Given the description of an element on the screen output the (x, y) to click on. 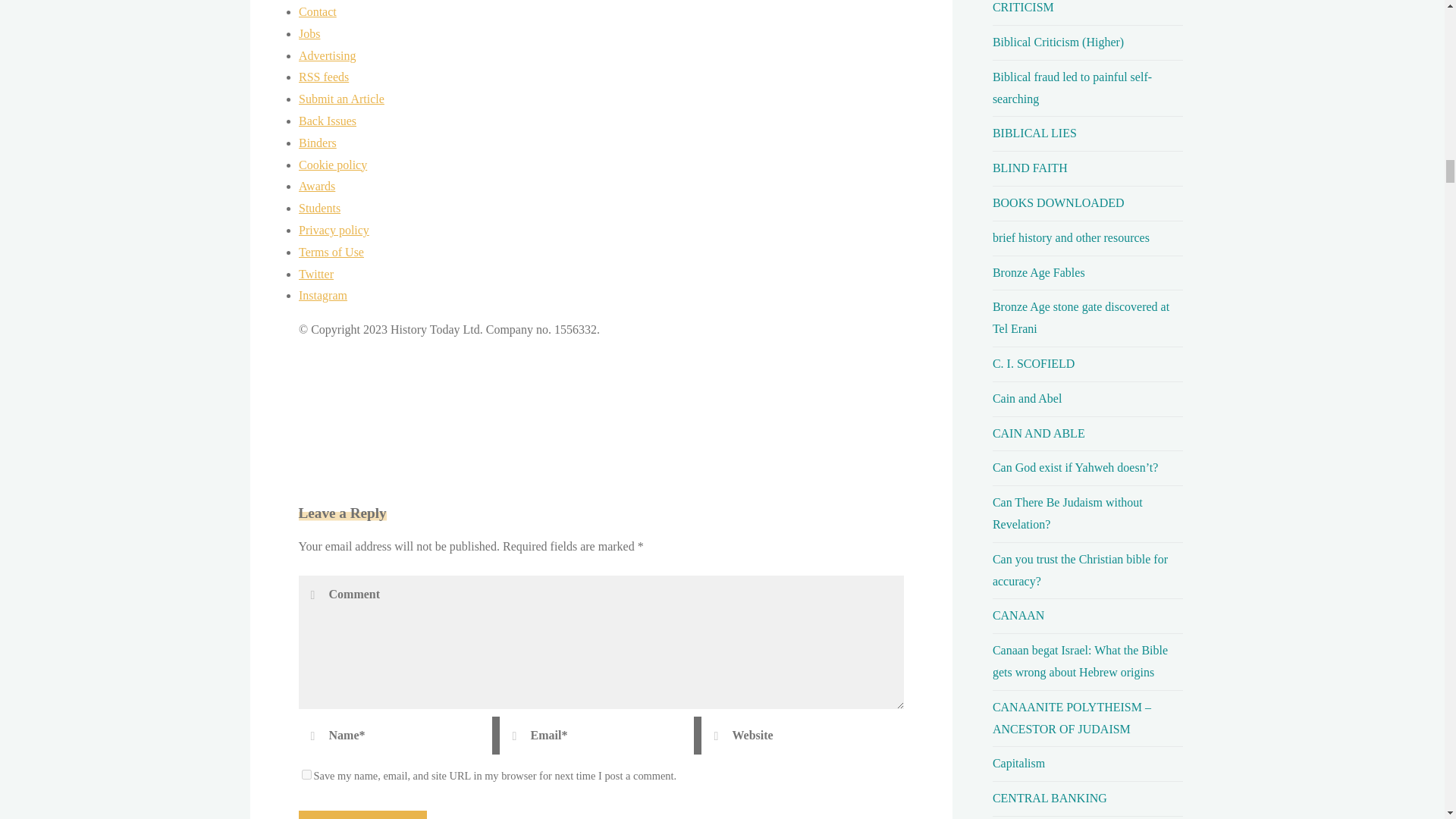
Post Comment (363, 814)
yes (306, 774)
